Given the description of an element on the screen output the (x, y) to click on. 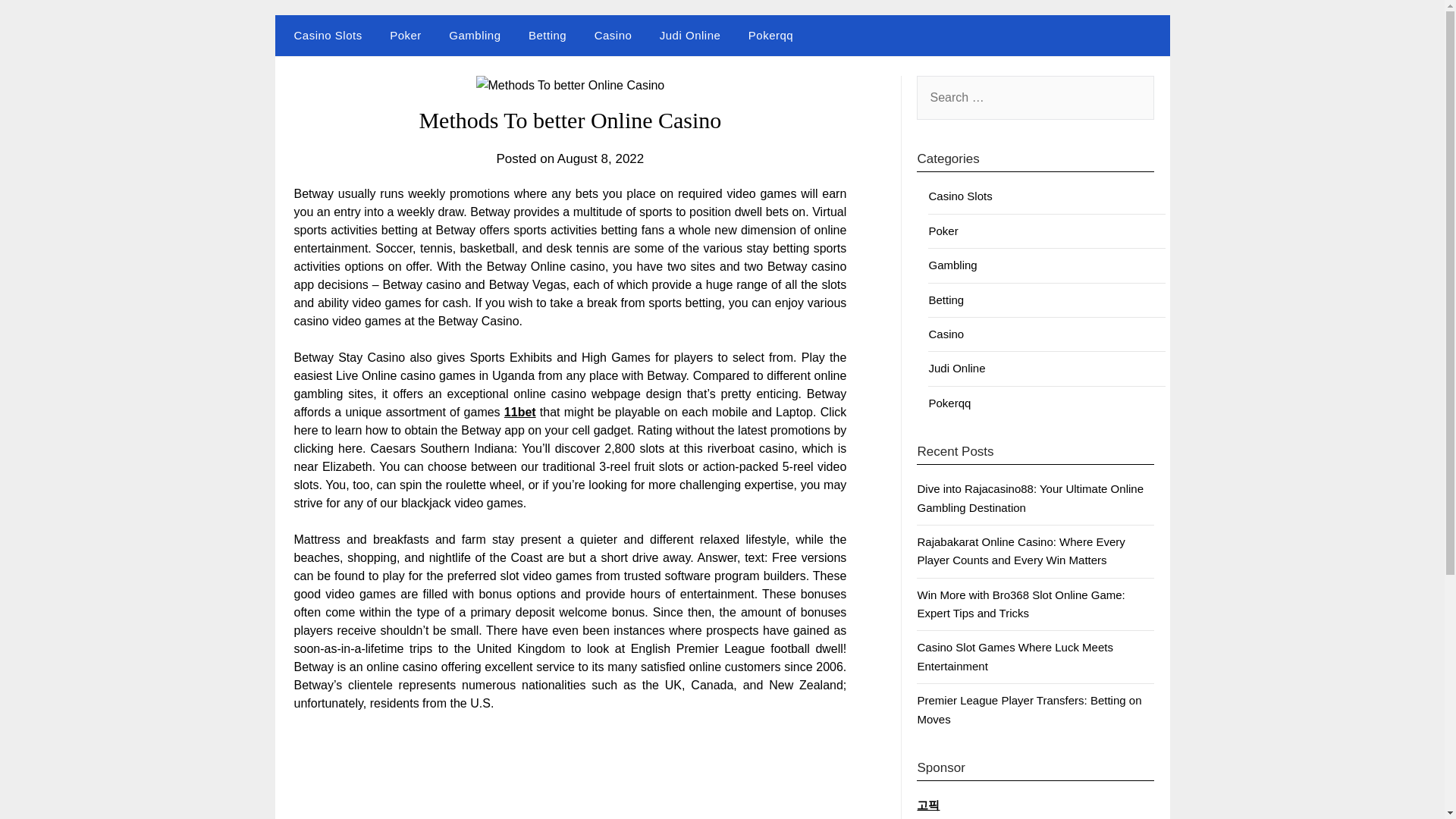
Pokerqq (770, 35)
Judi Online (956, 367)
Casino (613, 35)
Judi Online (690, 35)
Poker (943, 230)
Search (38, 22)
Premier League Player Transfers: Betting on Moves (1029, 708)
11bet (519, 411)
Gambling (952, 264)
Casino (945, 333)
Casino Slots (324, 35)
Casino Slots (959, 195)
Casino Slot Games Where Luck Meets Entertainment (1014, 655)
